Given the description of an element on the screen output the (x, y) to click on. 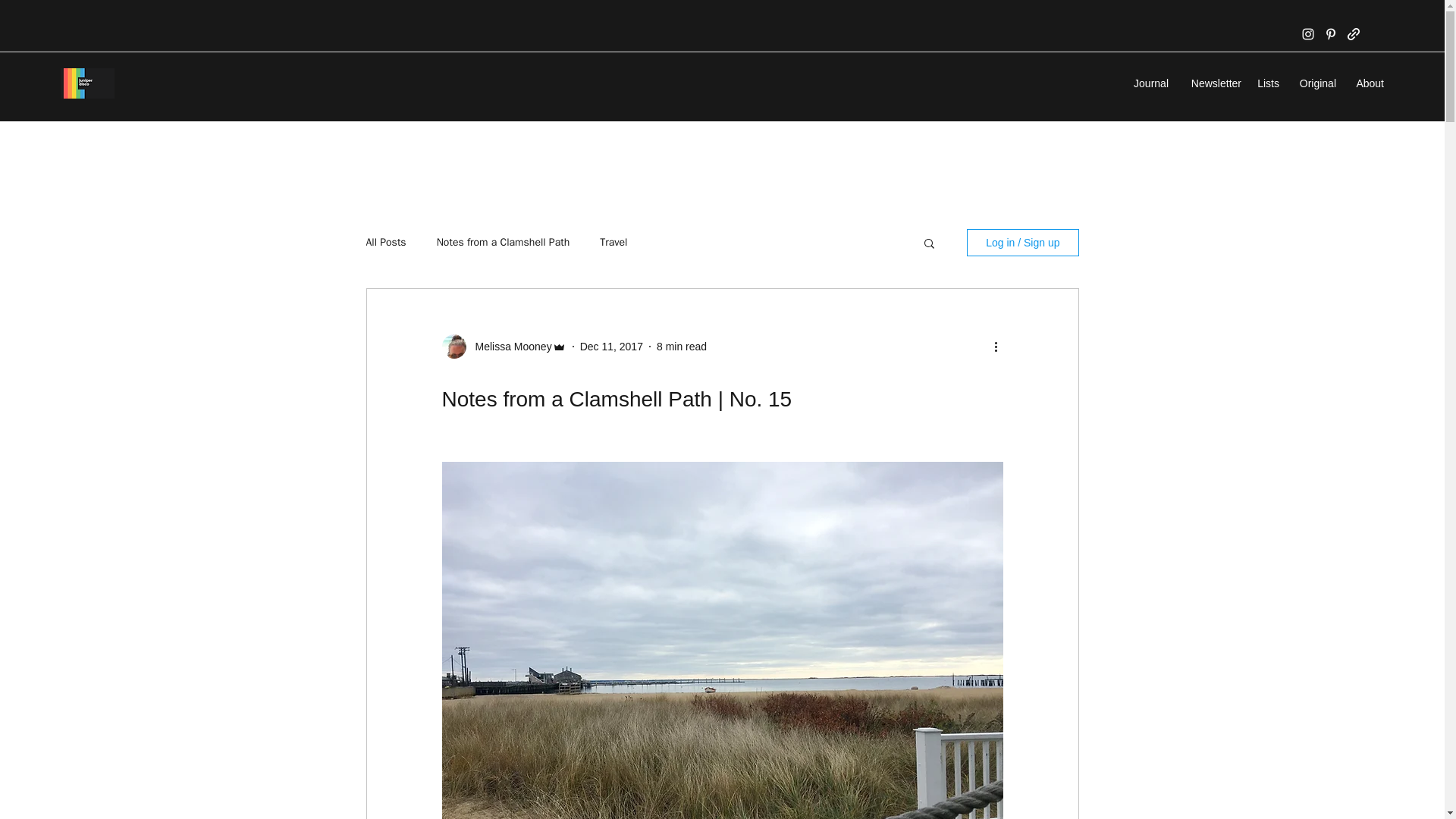
Melissa Mooney (508, 345)
About (1367, 83)
Travel (613, 242)
Journal (1148, 83)
Original (1315, 83)
Newsletter (1212, 83)
Lists (1268, 83)
Notes from a Clamshell Path (503, 242)
Dec 11, 2017 (611, 345)
All Posts (385, 242)
8 min read (681, 345)
